Given the description of an element on the screen output the (x, y) to click on. 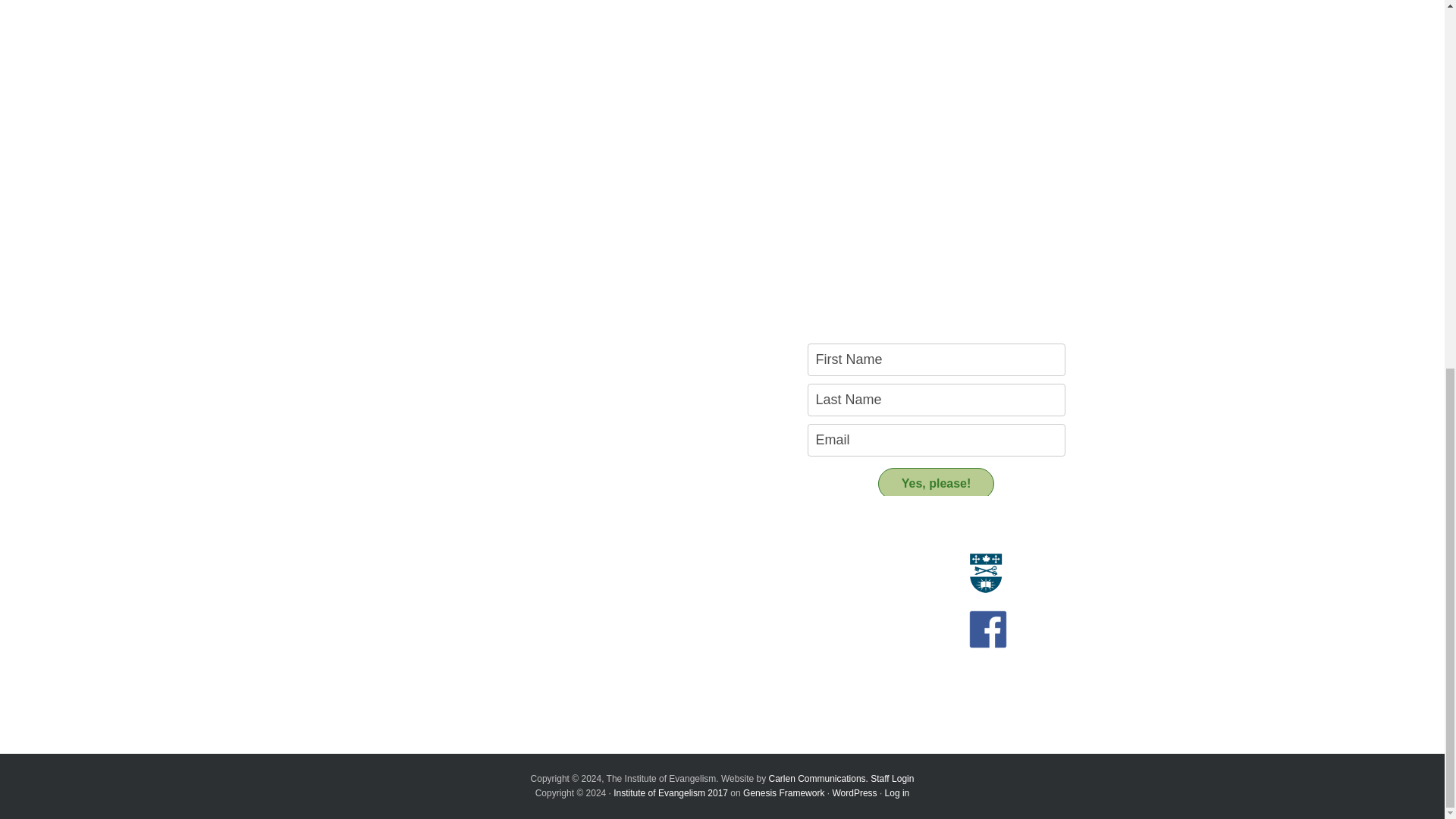
Support us (635, 647)
Evangelism (360, 563)
Yes, please! (935, 483)
Resource People (640, 580)
Yes, please! (935, 483)
A Key Leadership Change at the Institute of Evangelism (435, 675)
Recommended Reading (656, 597)
Introducing the New Transitional Director (429, 654)
Who we are (361, 580)
Carlen Communications (817, 778)
Carlen Communications. (817, 778)
Donate (616, 674)
About (354, 536)
Resource Materials (645, 563)
Resources (633, 536)
